Given the description of an element on the screen output the (x, y) to click on. 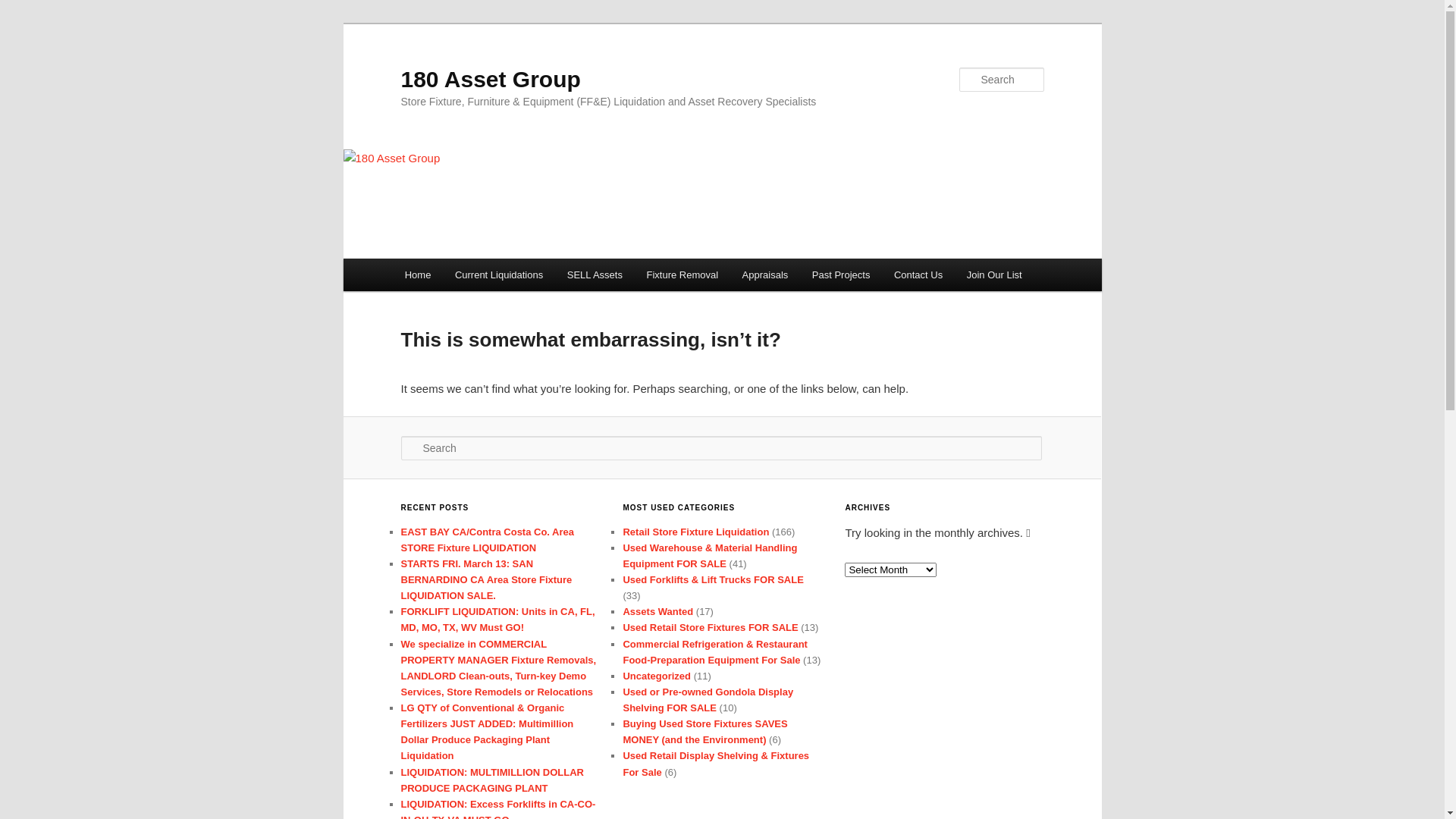
Used Warehouse & Material Handling Equipment FOR SALE Element type: text (709, 555)
Contact Us Element type: text (917, 274)
Past Projects Element type: text (840, 274)
Skip to primary content Element type: text (22, 22)
Home Element type: text (417, 274)
Appraisals Element type: text (765, 274)
Assets Wanted Element type: text (657, 611)
180 Asset Group Element type: text (490, 78)
Buying Used Store Fixtures SAVES MONEY (and the Environment) Element type: text (704, 731)
EAST BAY CA/Contra Costa Co. Area STORE Fixture LIQUIDATION Element type: text (487, 539)
LIQUIDATION: MULTIMILLION DOLLAR PRODUCE PACKAGING PLANT Element type: text (491, 779)
Retail Store Fixture Liquidation Element type: text (695, 531)
Uncategorized Element type: text (656, 675)
Used Retail Display Shelving & Fixtures For Sale Element type: text (715, 763)
SELL Assets Element type: text (594, 274)
Used Retail Store Fixtures FOR SALE Element type: text (709, 627)
Current Liquidations Element type: text (498, 274)
Used or Pre-owned Gondola Display Shelving FOR SALE Element type: text (707, 699)
Search Element type: text (24, 8)
Used Forklifts & Lift Trucks FOR SALE Element type: text (712, 579)
Fixture Removal Element type: text (682, 274)
Join Our List Element type: text (993, 274)
